Given the description of an element on the screen output the (x, y) to click on. 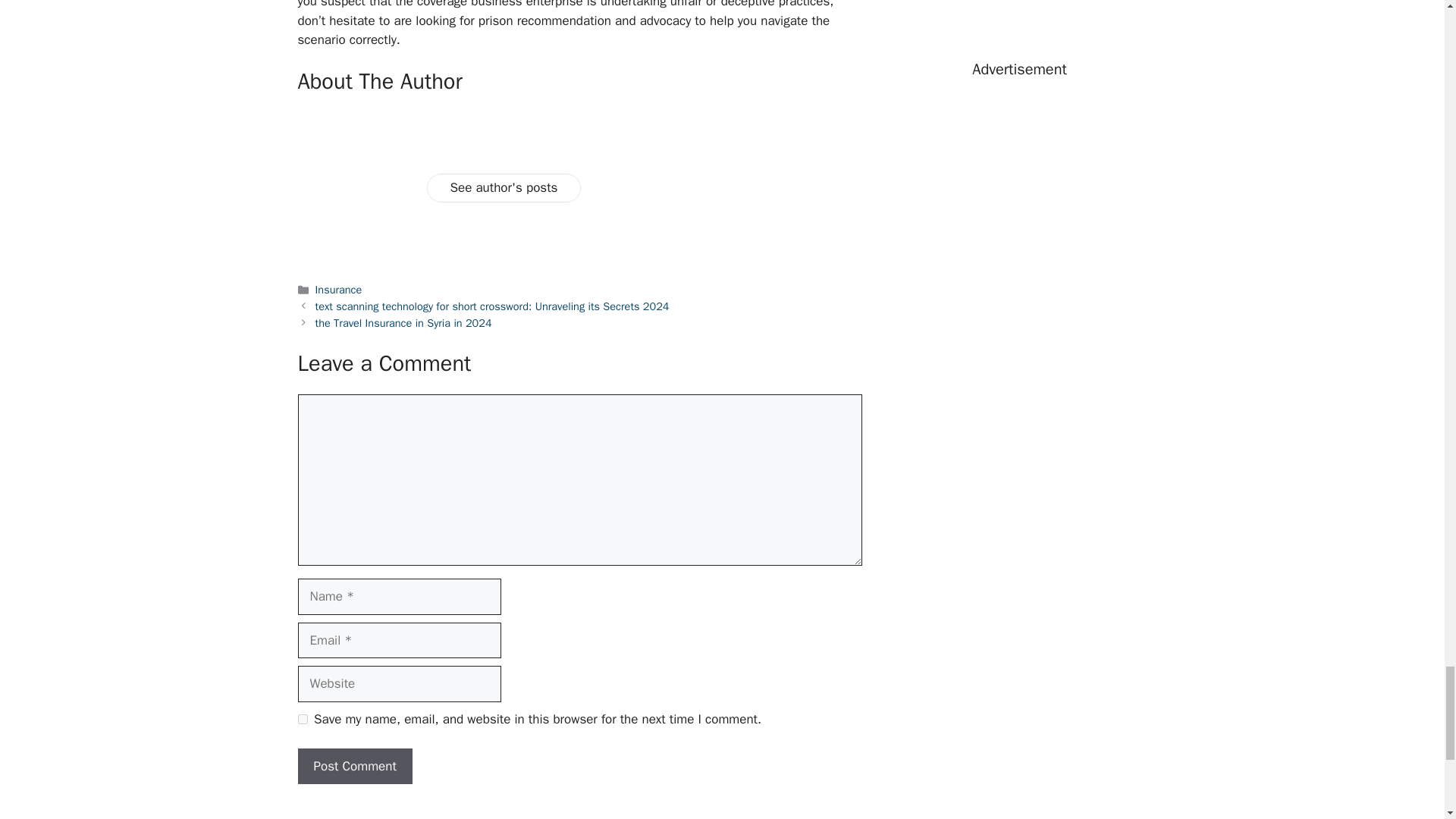
yes (302, 718)
Post Comment (354, 766)
Insurance (338, 289)
See author's posts (503, 187)
the Travel Insurance in Syria in 2024 (403, 323)
